Given the description of an element on the screen output the (x, y) to click on. 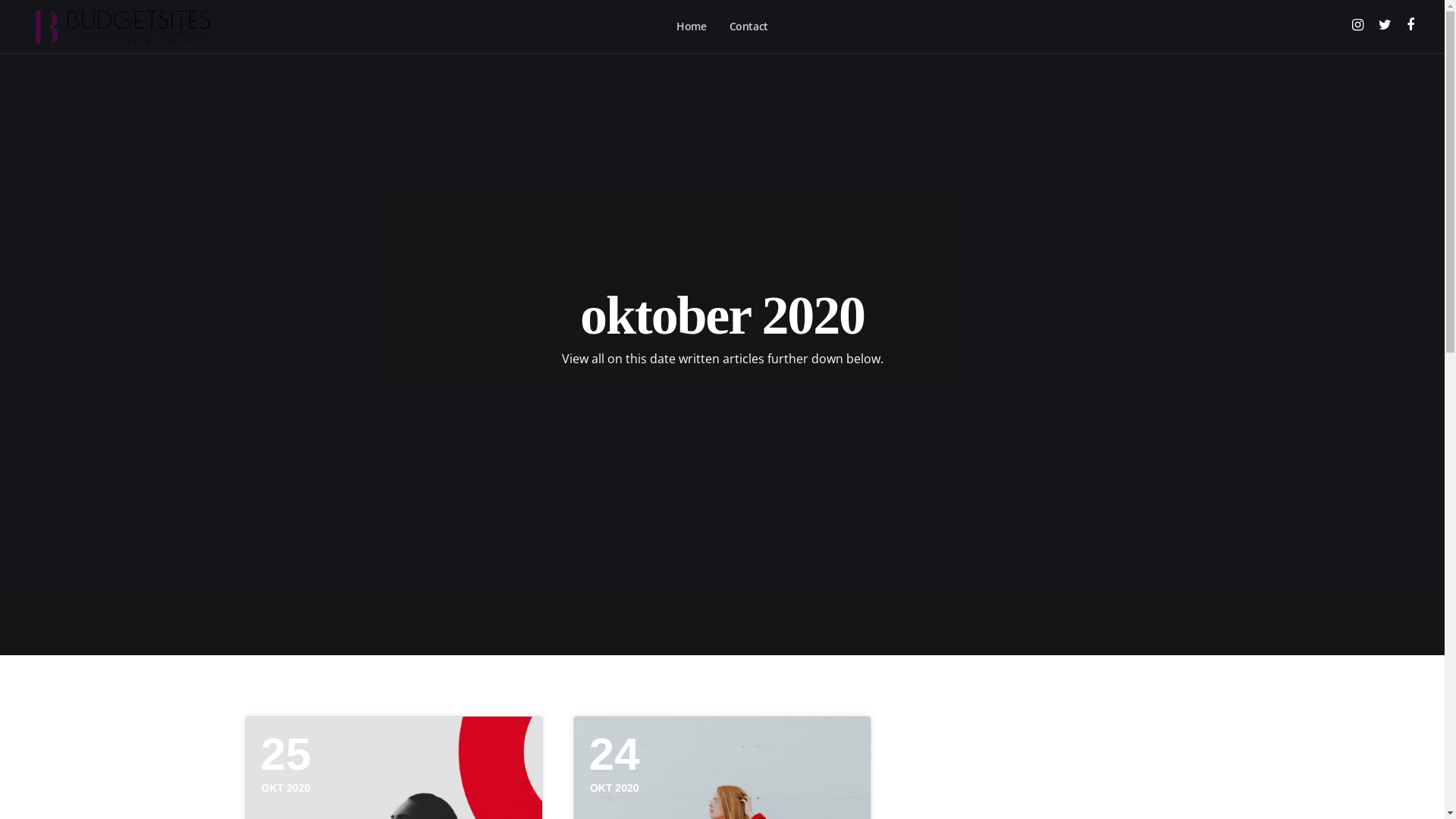
Contact Element type: text (748, 26)
Home Element type: text (691, 26)
